Given the description of an element on the screen output the (x, y) to click on. 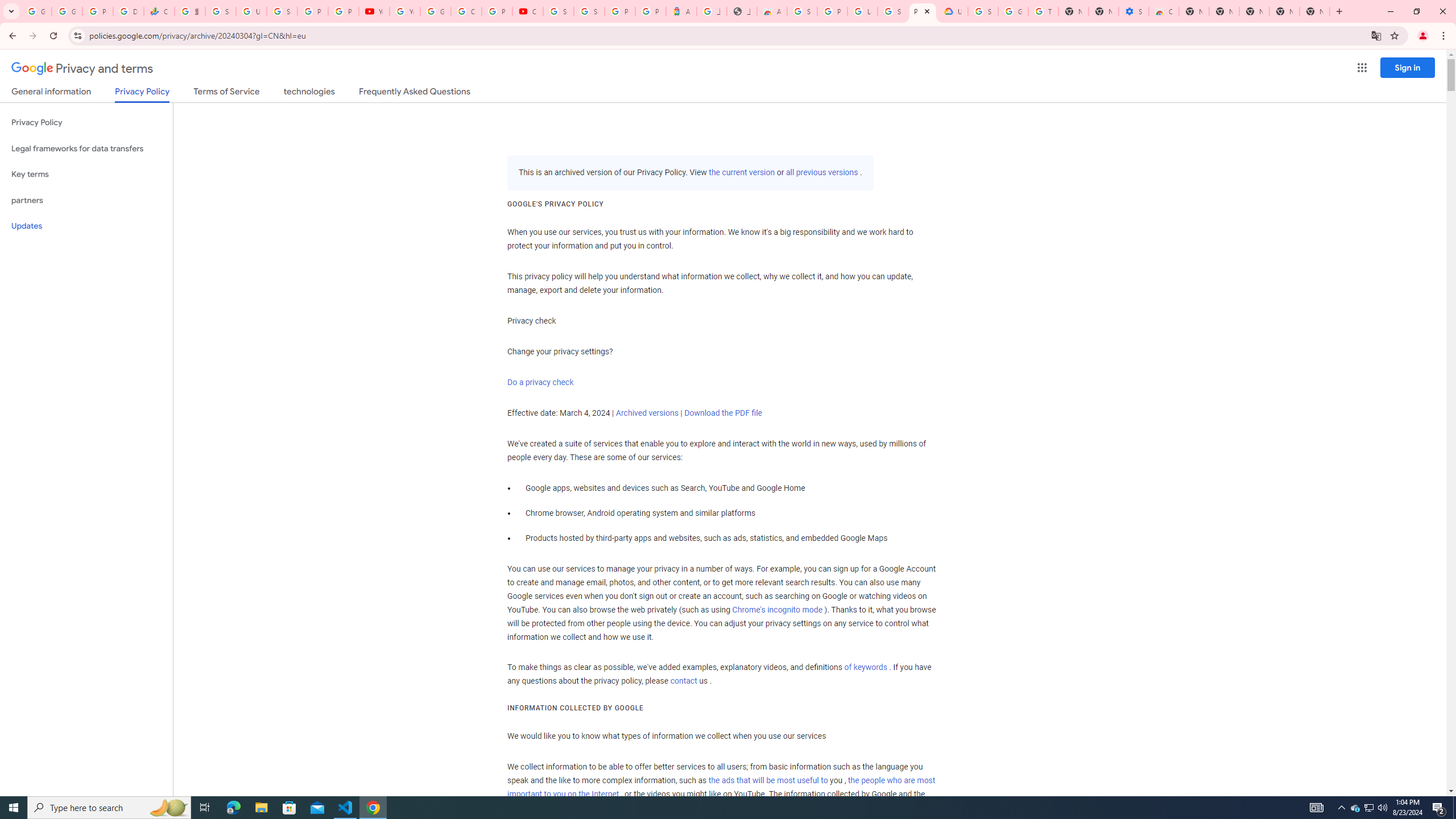
Sign in - Google Accounts (282, 11)
Chrome's incognito mode (777, 609)
Privacy Checkup (343, 11)
Create your Google Account (465, 11)
Currencies - Google Finance (158, 11)
Awesome Screen Recorder & Screenshot - Chrome Web Store (771, 11)
technologies (308, 93)
Google Workspace Admin Community (36, 11)
Content Creator Programs & Opportunities - YouTube Creators (527, 11)
Sign in - Google Accounts (558, 11)
the ads that will be most useful to (767, 780)
